Given the description of an element on the screen output the (x, y) to click on. 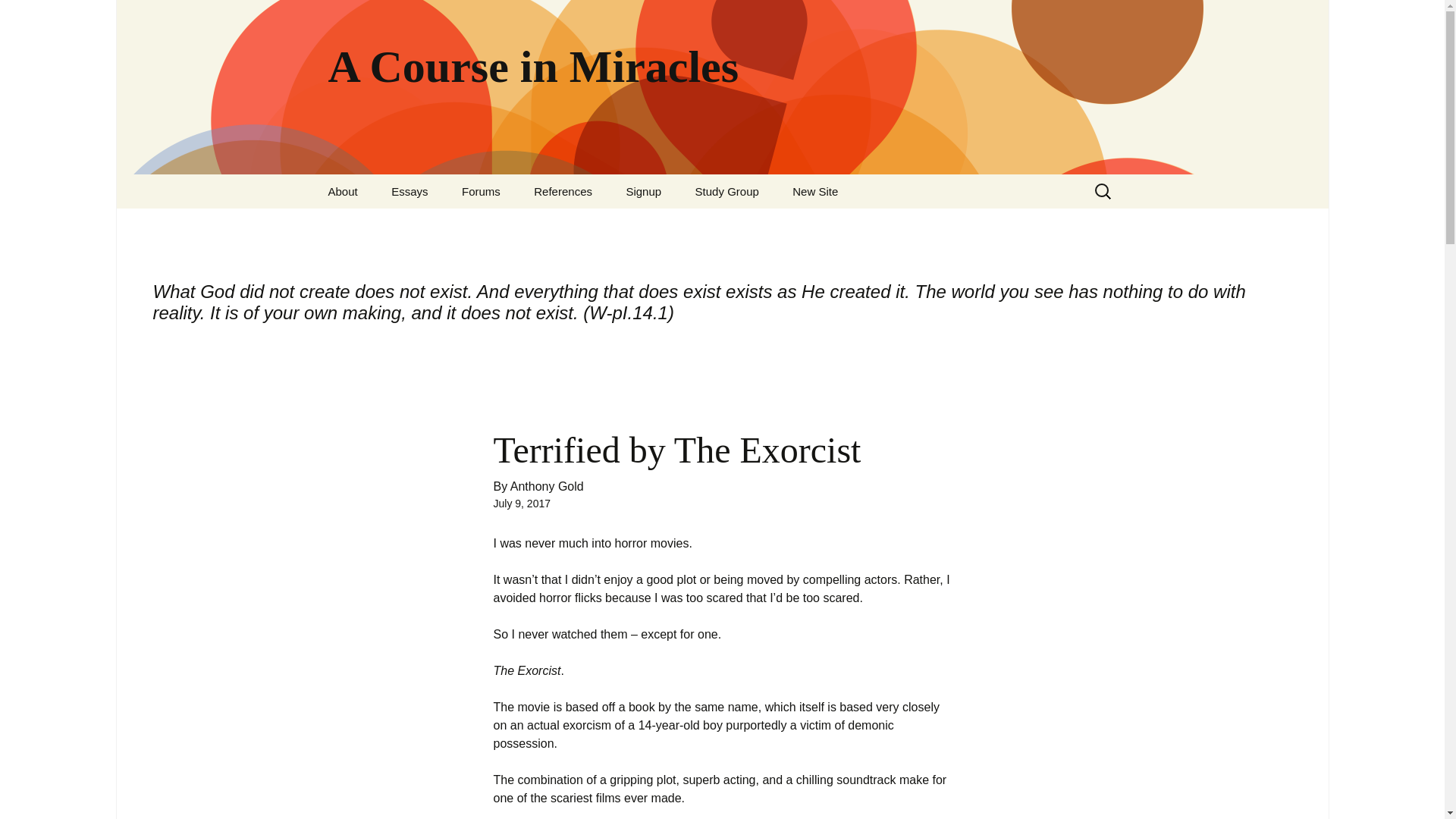
Search (18, 15)
Forums (480, 191)
About (342, 191)
References (562, 191)
Study Group (726, 191)
Essays (408, 191)
